Given the description of an element on the screen output the (x, y) to click on. 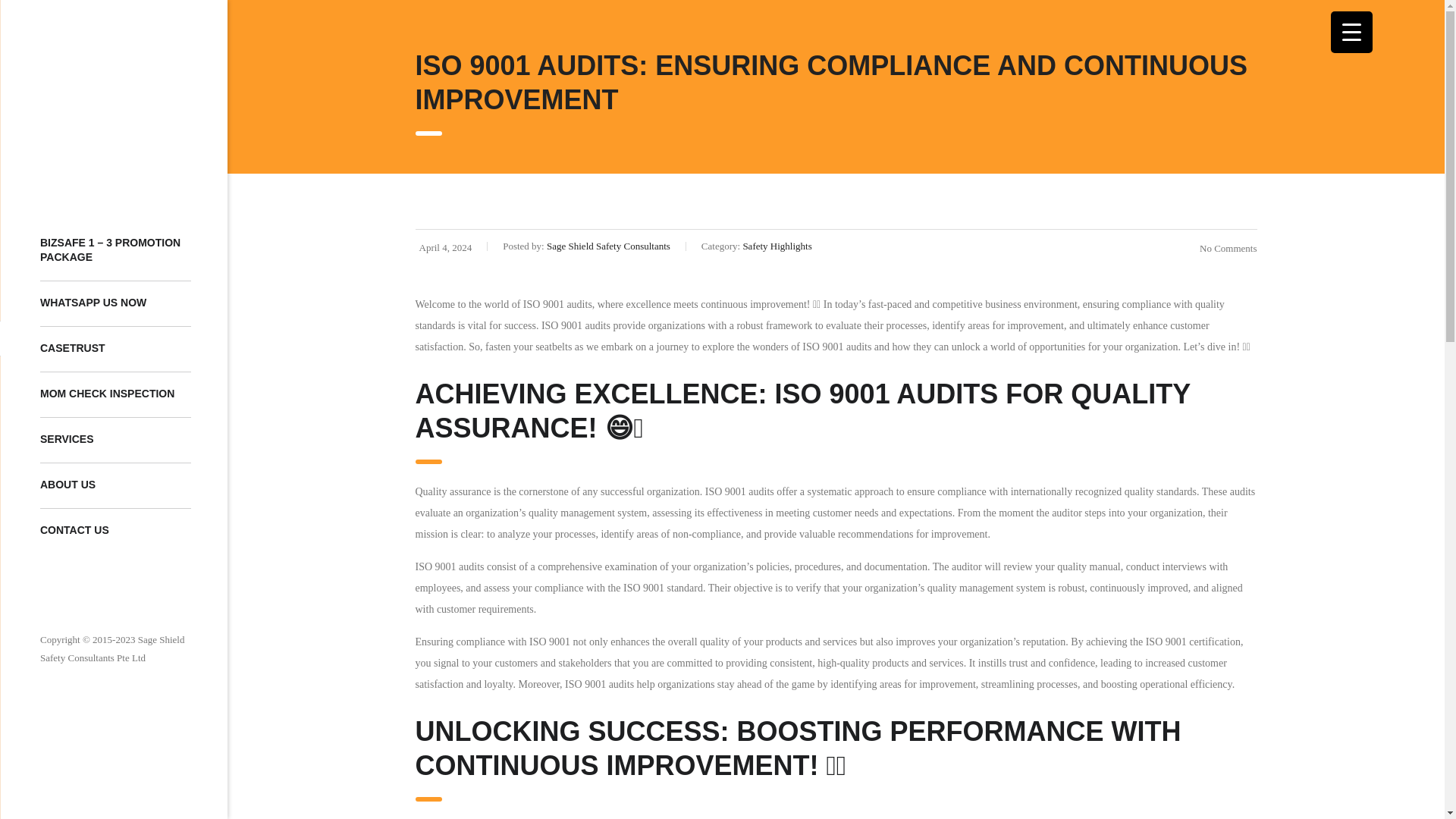
CONTACT US (115, 530)
CASETRUST (115, 348)
WHATSAPP US NOW (115, 302)
ABOUT US (115, 484)
MOM CHECK INSPECTION (115, 393)
SERVICES (115, 439)
